Given the description of an element on the screen output the (x, y) to click on. 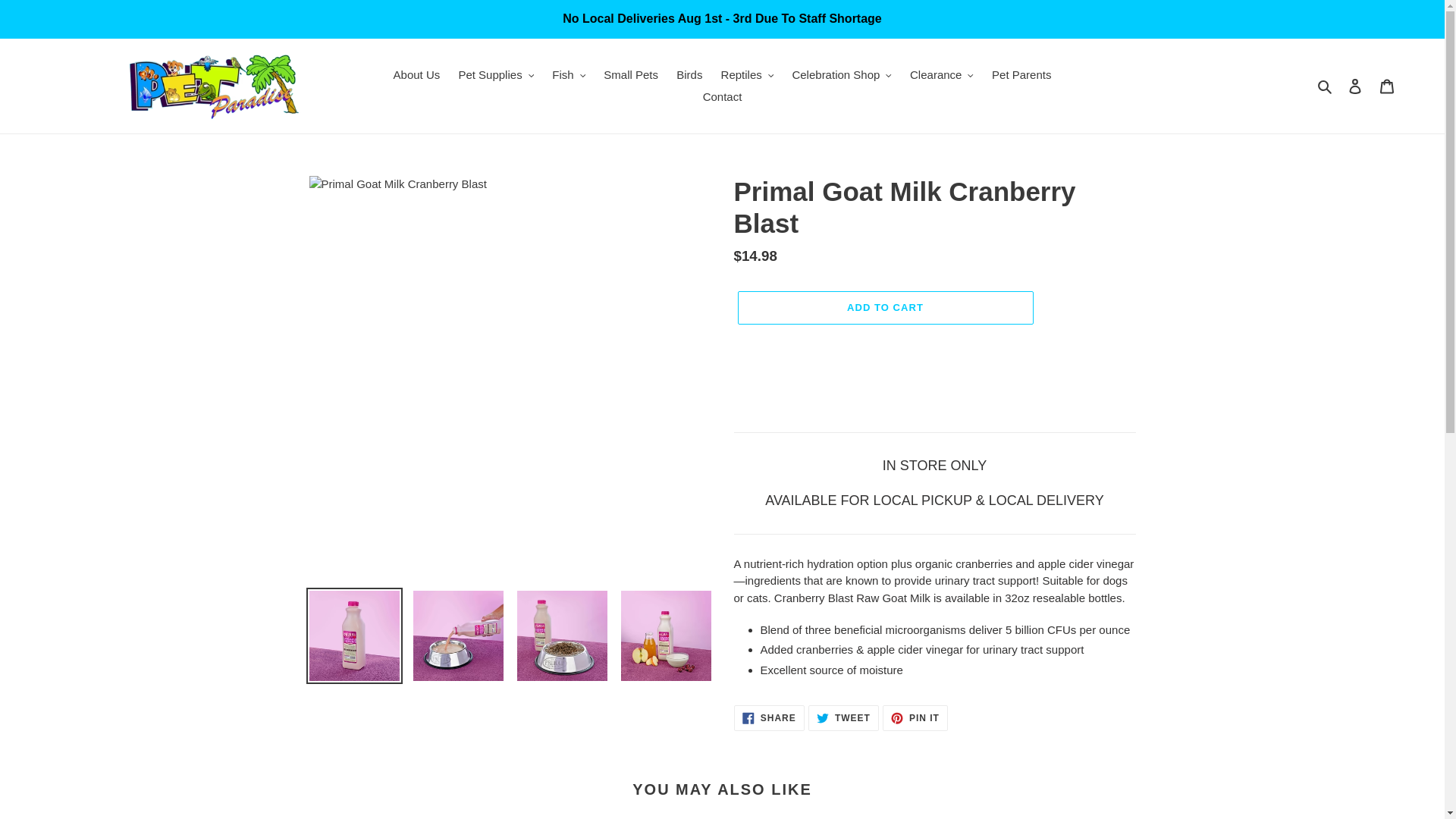
About Us (416, 75)
No Local Deliveries Aug 1st - 3rd Due To Staff Shortage (721, 18)
Pet Supplies (495, 75)
